Given the description of an element on the screen output the (x, y) to click on. 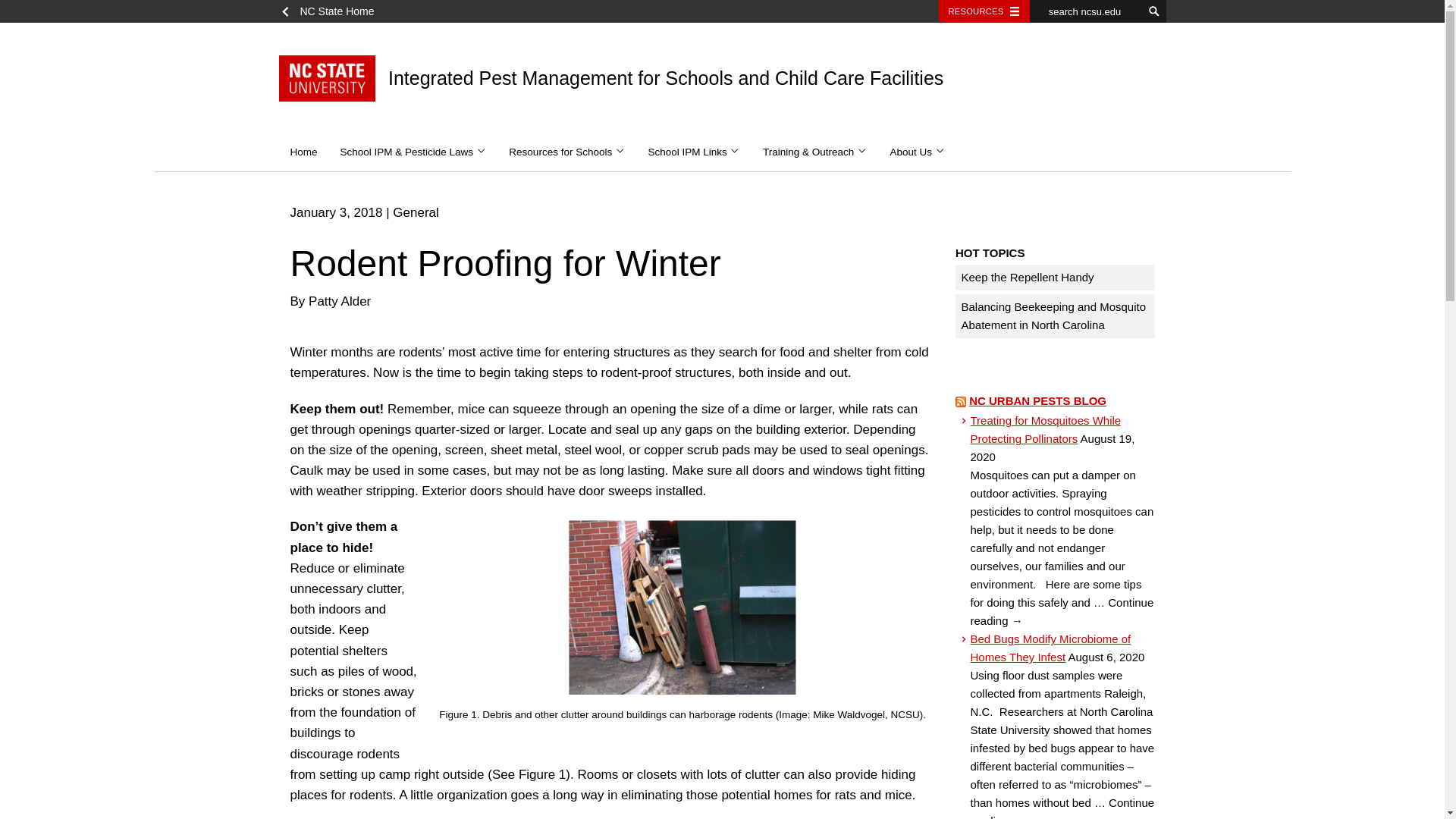
NC State Home (332, 11)
Home (304, 152)
search (1154, 11)
search (1154, 11)
search (1154, 11)
RESOURCES (984, 11)
